Given the description of an element on the screen output the (x, y) to click on. 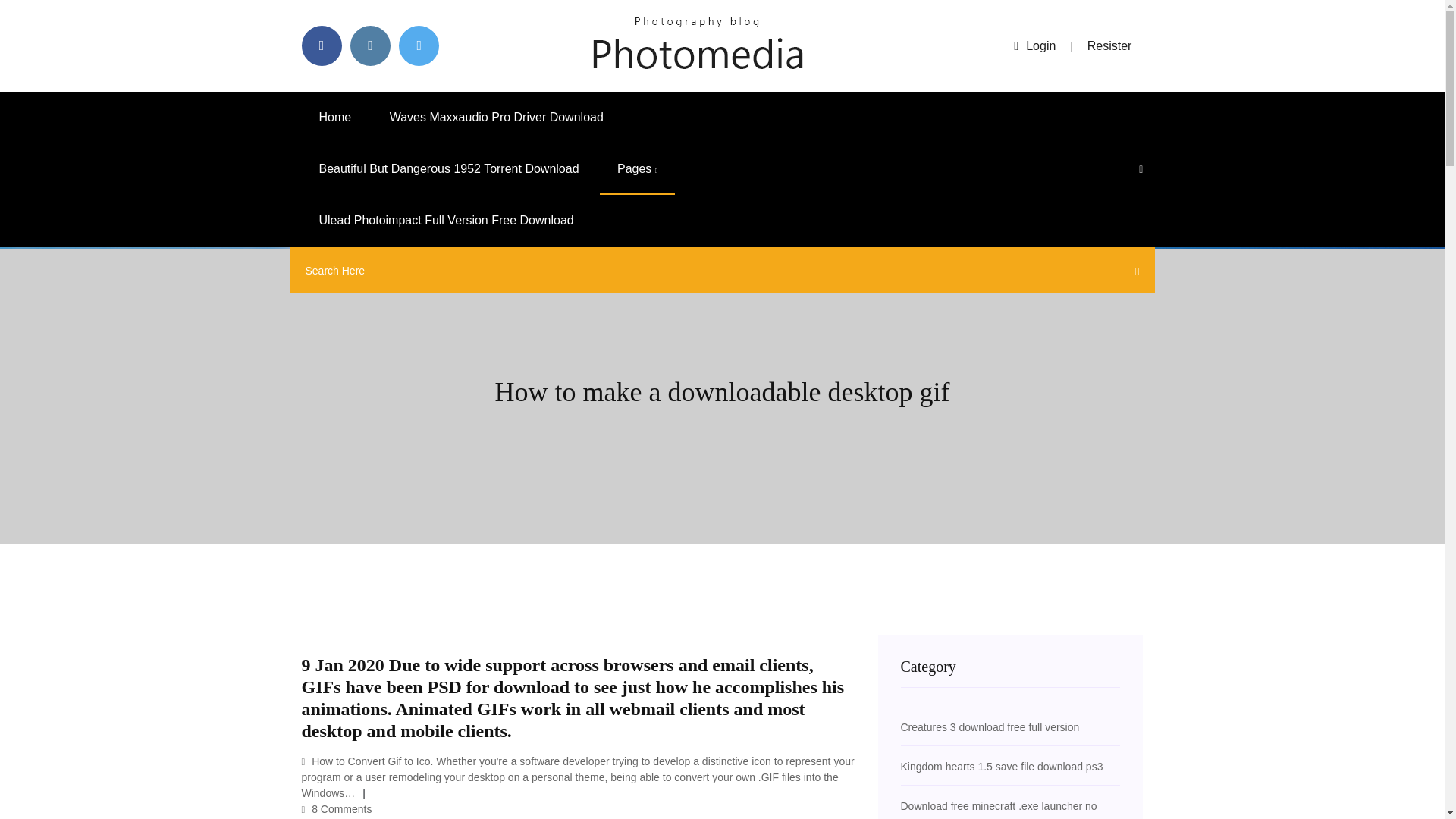
Login (1034, 45)
8 Comments (336, 808)
Waves Maxxaudio Pro Driver Download (496, 117)
Pages (637, 168)
Beautiful But Dangerous 1952 Torrent Download (448, 168)
Resister (1109, 45)
Home (335, 117)
Ulead Photoimpact Full Version Free Download (446, 220)
